Given the description of an element on the screen output the (x, y) to click on. 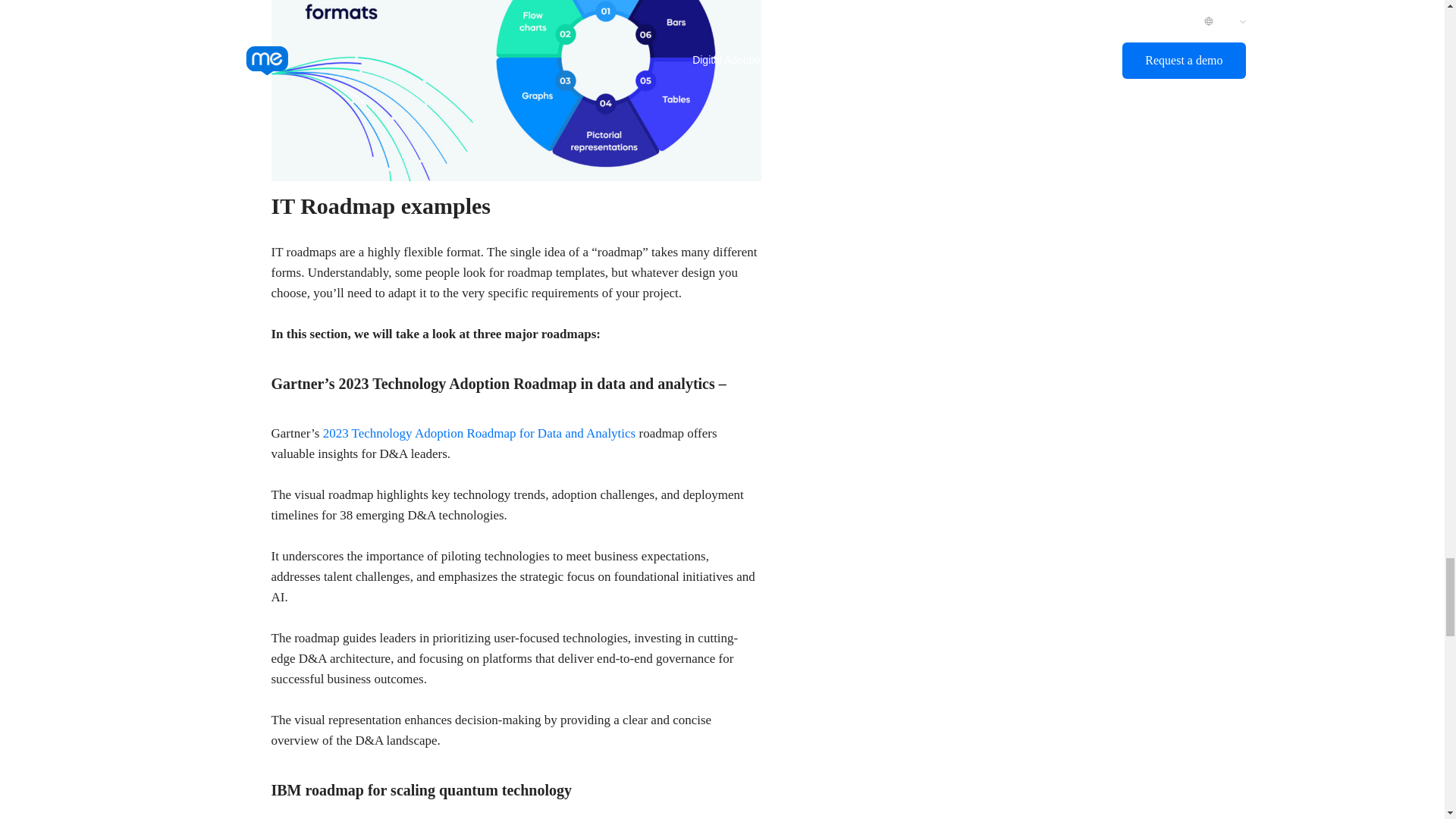
2023 Technology Adoption Roadmap for Data and Analytics (479, 432)
